Given the description of an element on the screen output the (x, y) to click on. 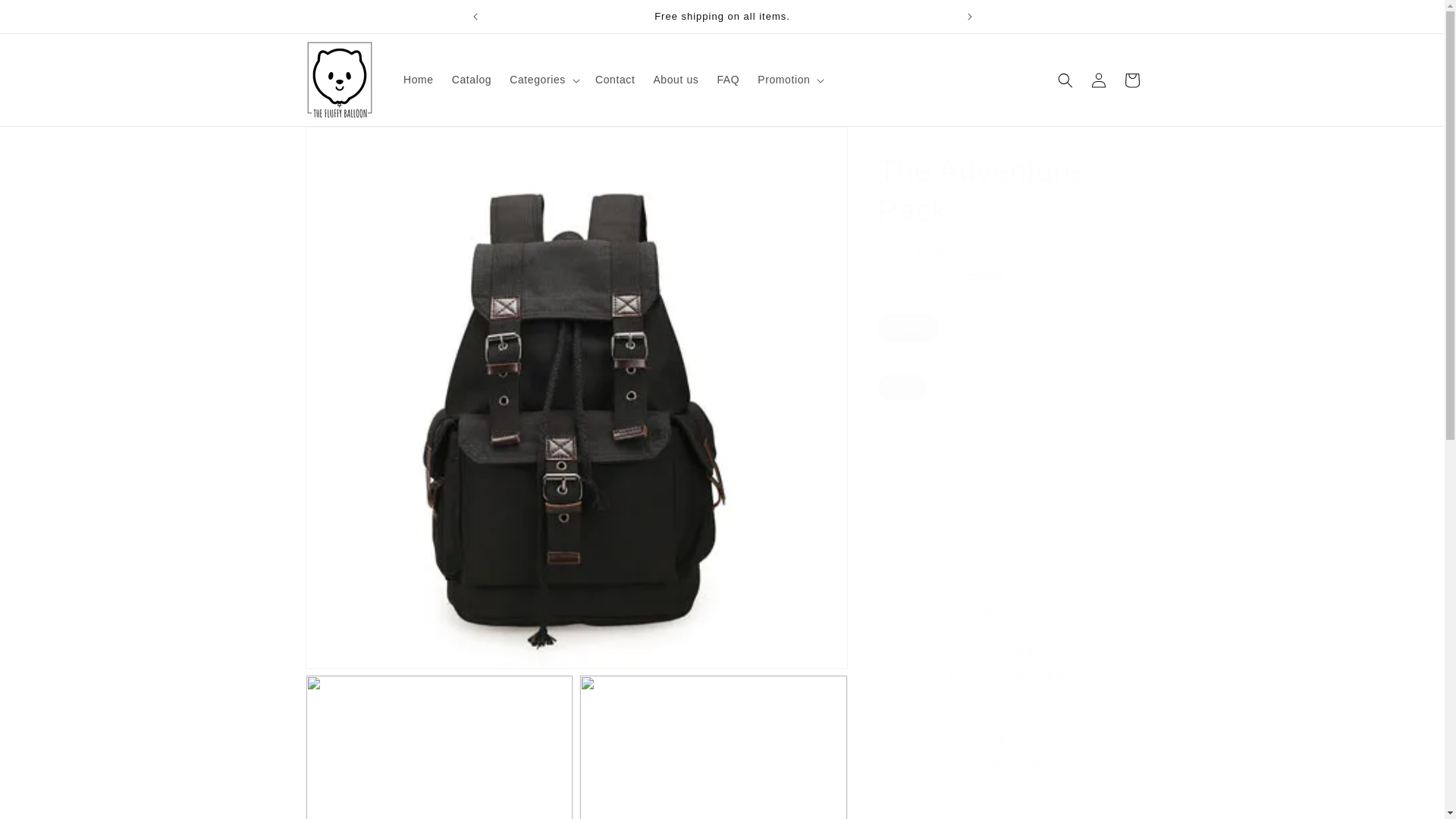
Open media 2 in modal (438, 746)
Open media 5 in modal (713, 746)
1 (931, 451)
Skip to content (45, 17)
